Given the description of an element on the screen output the (x, y) to click on. 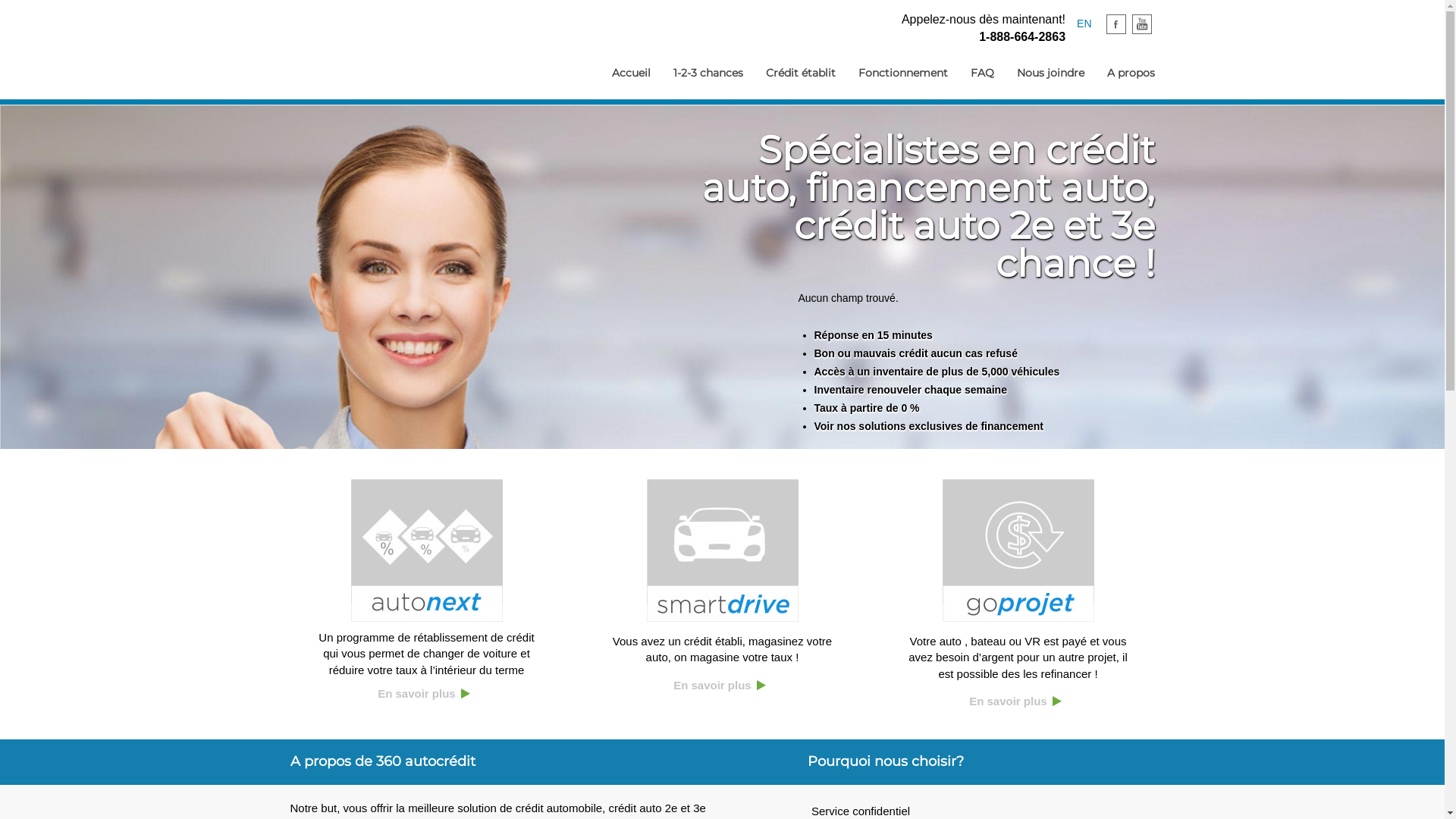
  Element type: text (762, 684)
Fonctionnement Element type: text (902, 72)
autonext-icon-200x188 Element type: hover (426, 550)
FAQ Element type: text (981, 72)
  Element type: text (466, 693)
Accueil Element type: text (631, 72)
Nous joindre Element type: text (1050, 72)
En savoir plus Element type: text (416, 693)
Follow Us on Youtube Element type: hover (1141, 24)
smartprojet-200x188 Element type: hover (721, 550)
Follow Us on Facebook Element type: hover (1115, 24)
En savoir plus Element type: text (1008, 700)
1-2-3 chances Element type: text (707, 72)
En savoir plus Element type: text (712, 684)
EN Element type: text (1083, 23)
goprojet-200x188 Element type: hover (1017, 550)
A propos Element type: text (1130, 72)
  Element type: text (1058, 700)
